Given the description of an element on the screen output the (x, y) to click on. 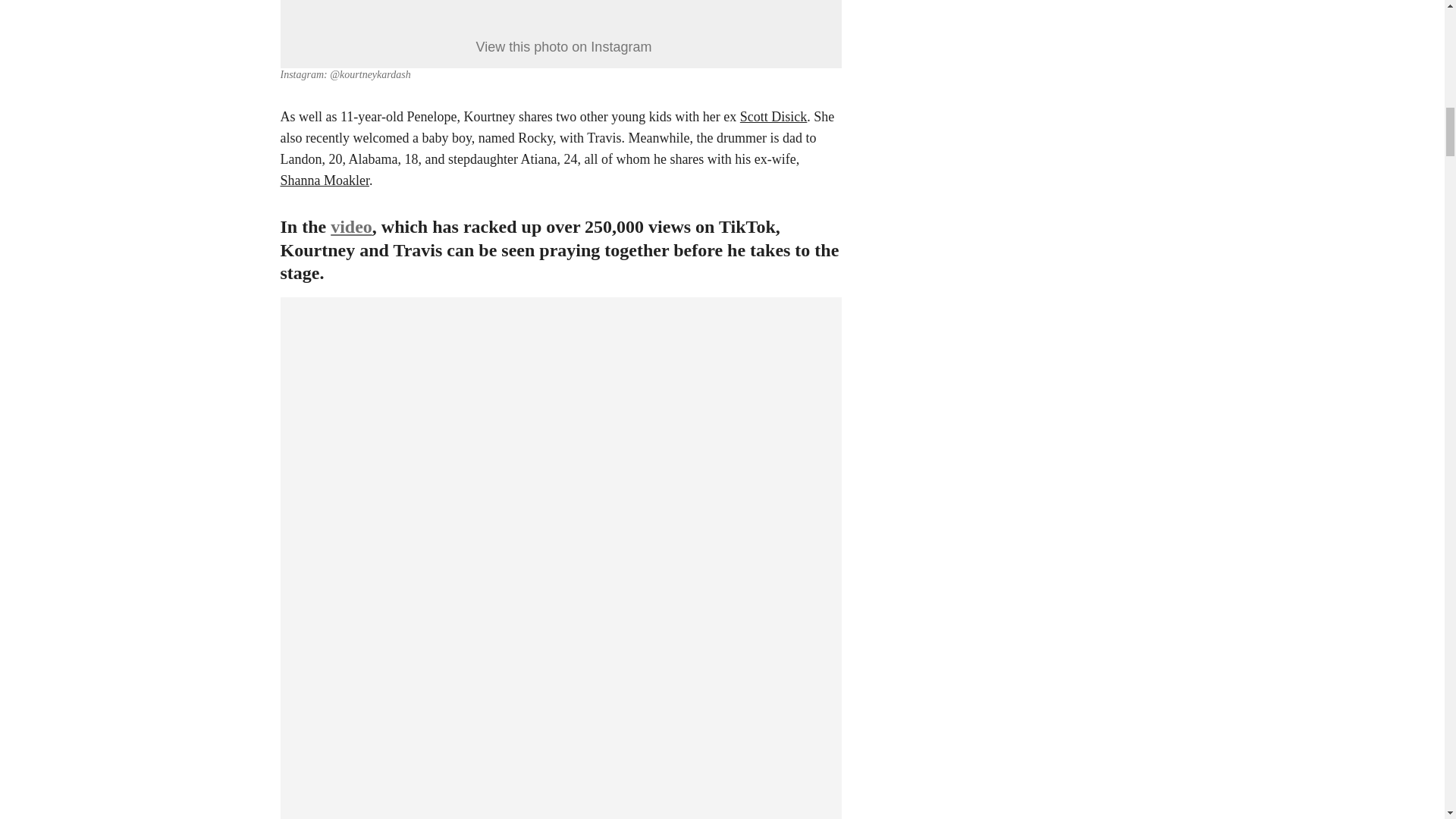
Scott Disick (773, 116)
video (351, 226)
Shanna Moakler (325, 180)
